Given the description of an element on the screen output the (x, y) to click on. 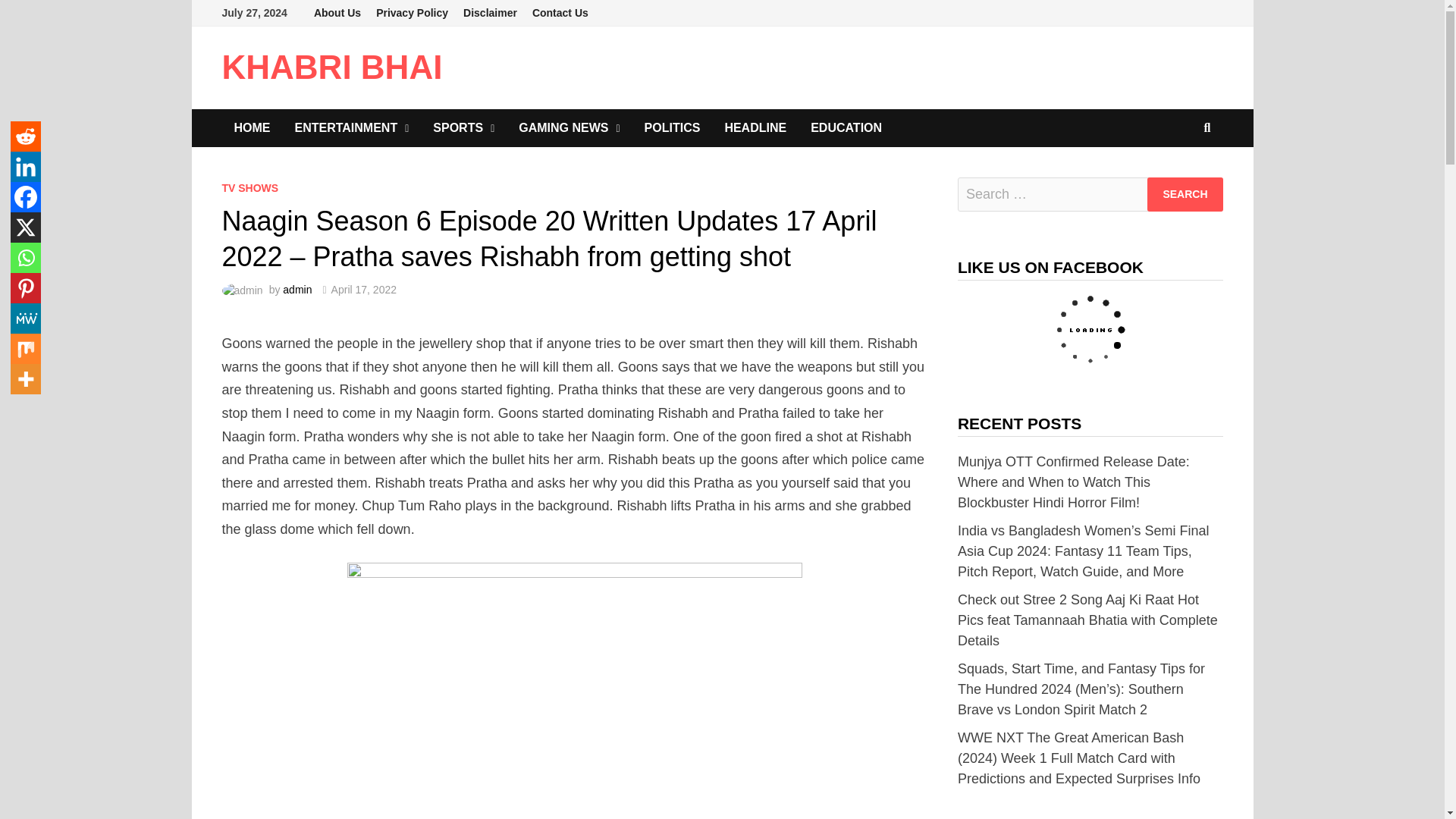
HEADLINE (754, 127)
HOME (251, 127)
Reddit (25, 136)
Search (1185, 194)
POLITICS (672, 127)
GAMING NEWS (568, 127)
ENTERTAINMENT (351, 127)
About Us (336, 13)
Contact Us (559, 13)
Disclaimer (489, 13)
SPORTS (463, 127)
EDUCATION (845, 127)
Search (1185, 194)
Privacy Policy (411, 13)
KHABRI BHAI (331, 66)
